Given the description of an element on the screen output the (x, y) to click on. 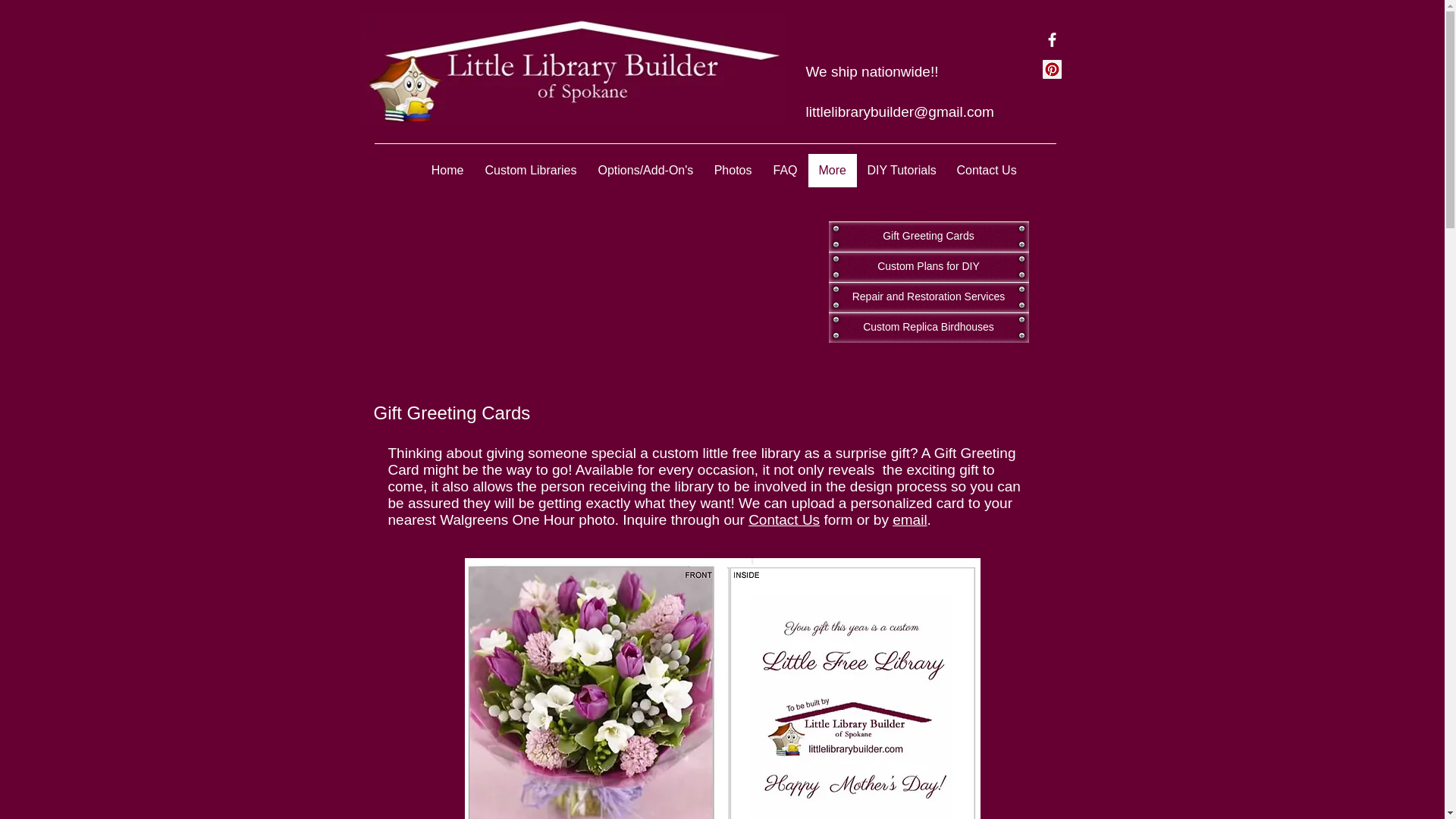
DIY Tutorials (901, 170)
More (832, 170)
Header Landing Page.jpg (571, 68)
Custom Libraries (531, 170)
Home (447, 170)
FAQ (785, 170)
